Given the description of an element on the screen output the (x, y) to click on. 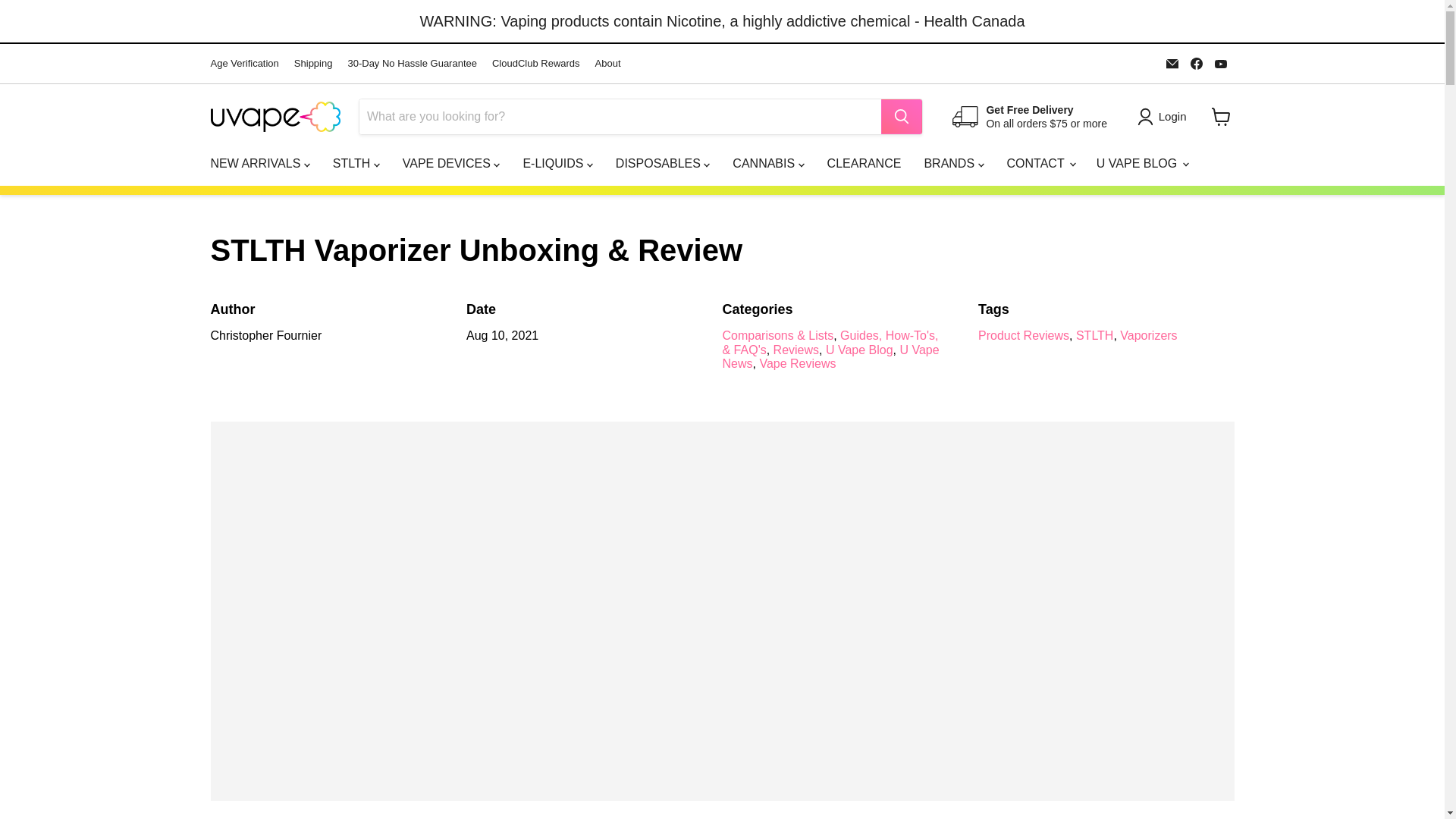
Age Verification (245, 63)
Login (1164, 116)
About (608, 63)
CloudClub Rewards (535, 63)
30-Day No Hassle Guarantee (412, 63)
Email (1171, 63)
Find us on YouTube (1220, 63)
View cart (1221, 116)
Shipping (313, 63)
Email 719838 NB Inc. (1171, 63)
